Given the description of an element on the screen output the (x, y) to click on. 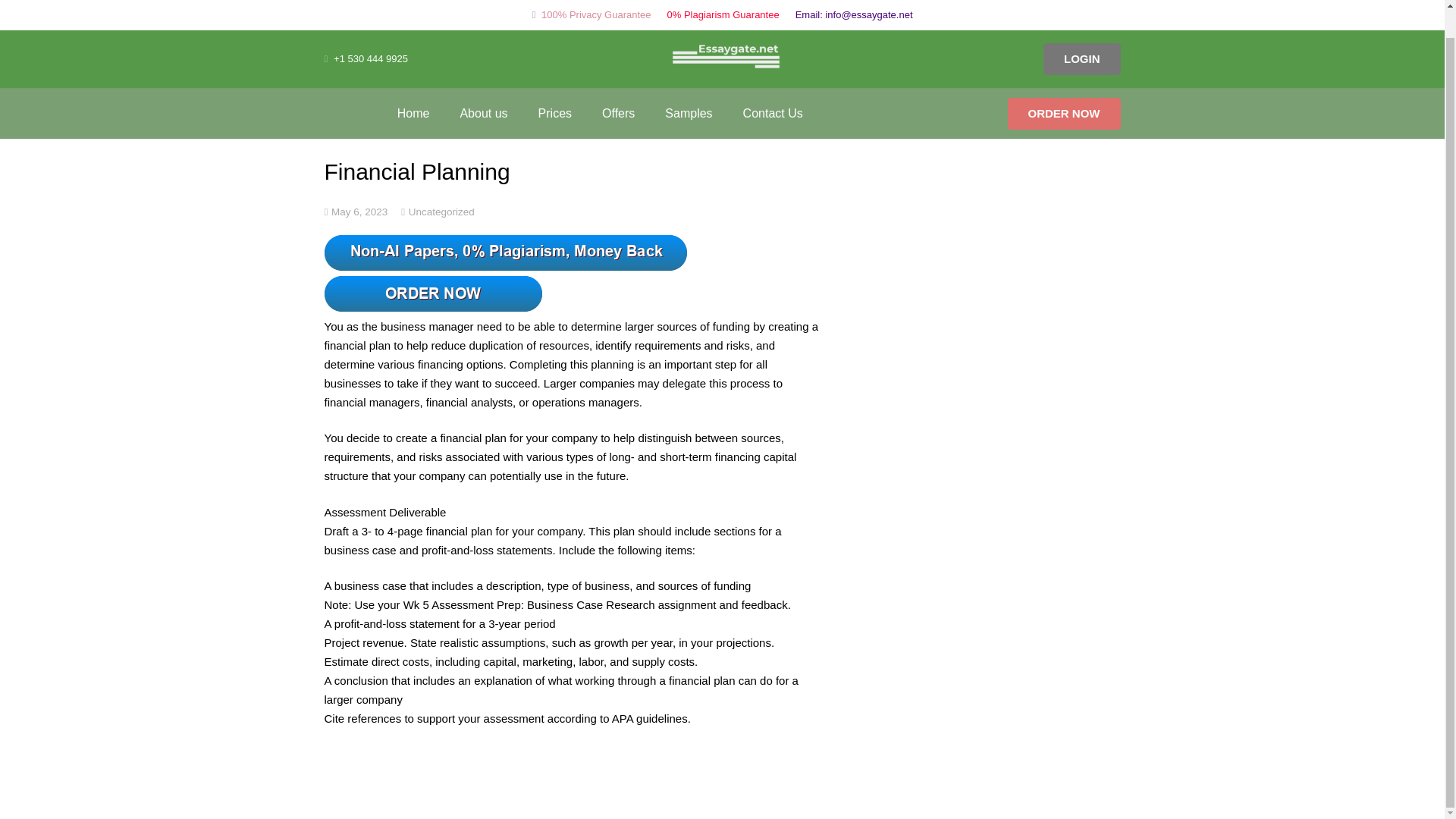
Uncategorized (441, 211)
Offers (617, 84)
Home (413, 84)
About us (483, 84)
LOGIN (1082, 30)
Prices (554, 84)
ORDER NOW (1063, 84)
Samples (687, 84)
Contact Us (773, 84)
